Given the description of an element on the screen output the (x, y) to click on. 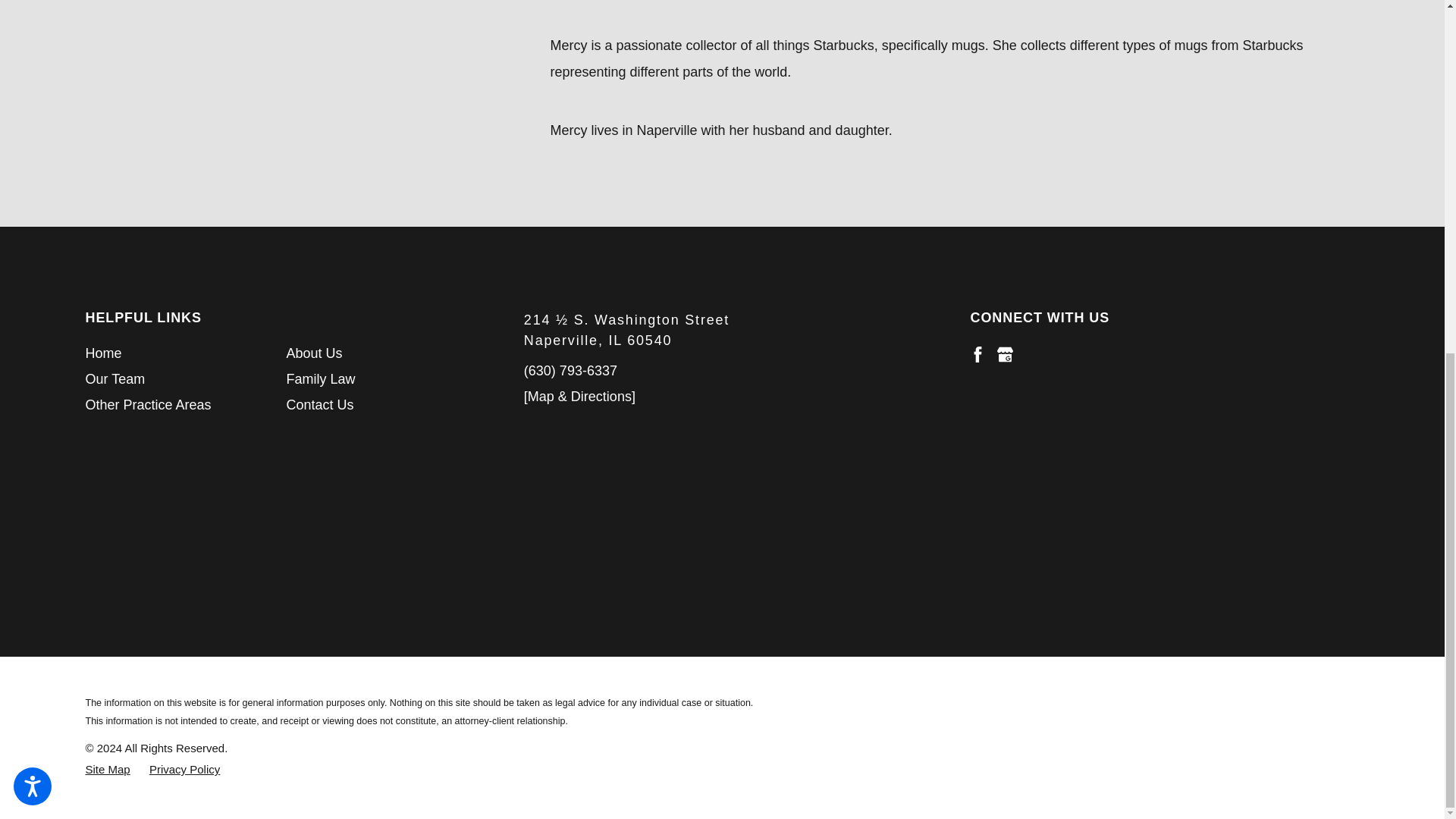
Open the accessibility options menu (31, 170)
Google Business Profile (1005, 354)
Facebook (977, 354)
